Given the description of an element on the screen output the (x, y) to click on. 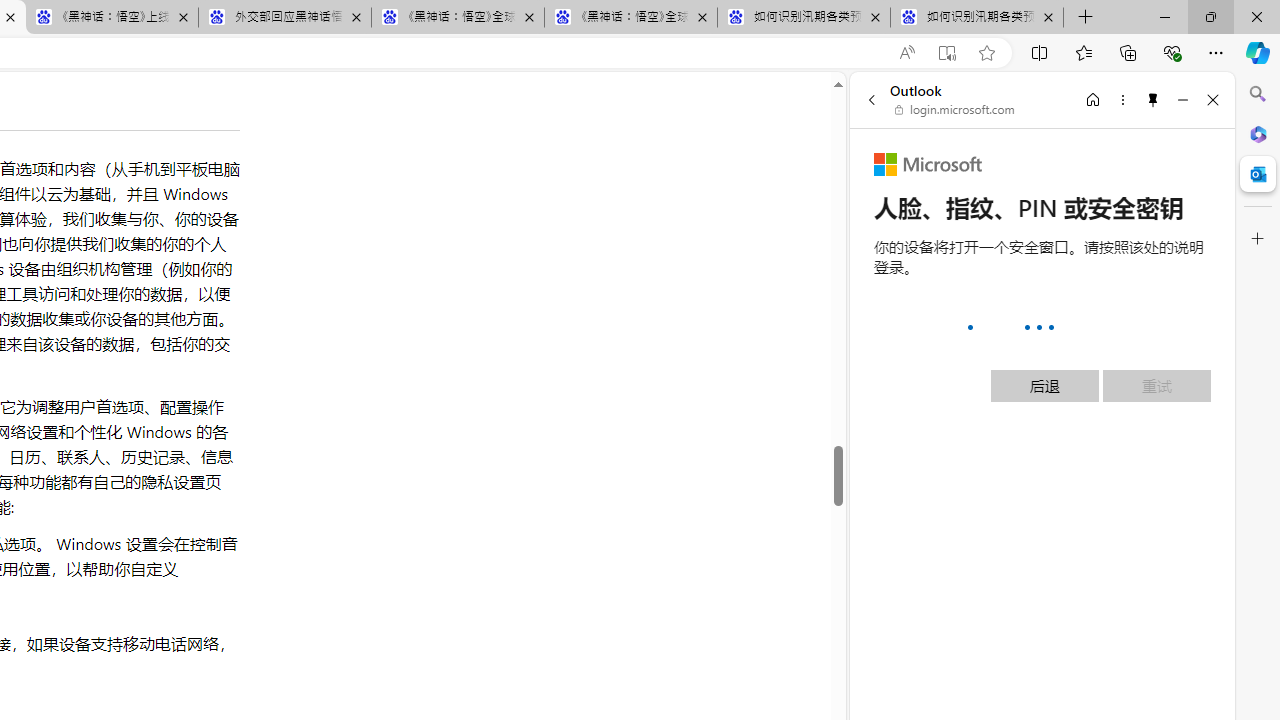
Microsoft (927, 164)
